Given the description of an element on the screen output the (x, y) to click on. 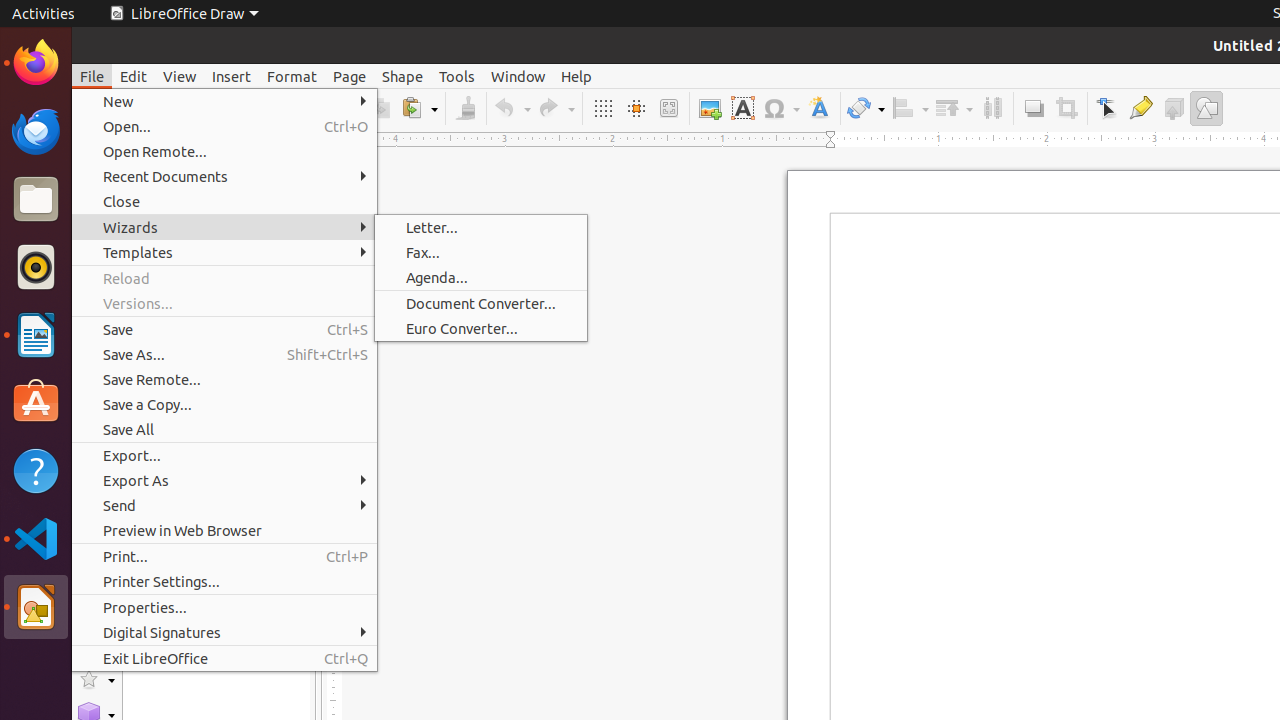
Save a Copy... Element type: menu-item (224, 404)
Agenda... Element type: menu-item (481, 277)
Save Remote... Element type: menu-item (224, 379)
Edit Element type: menu (133, 76)
New Element type: menu (224, 101)
